Given the description of an element on the screen output the (x, y) to click on. 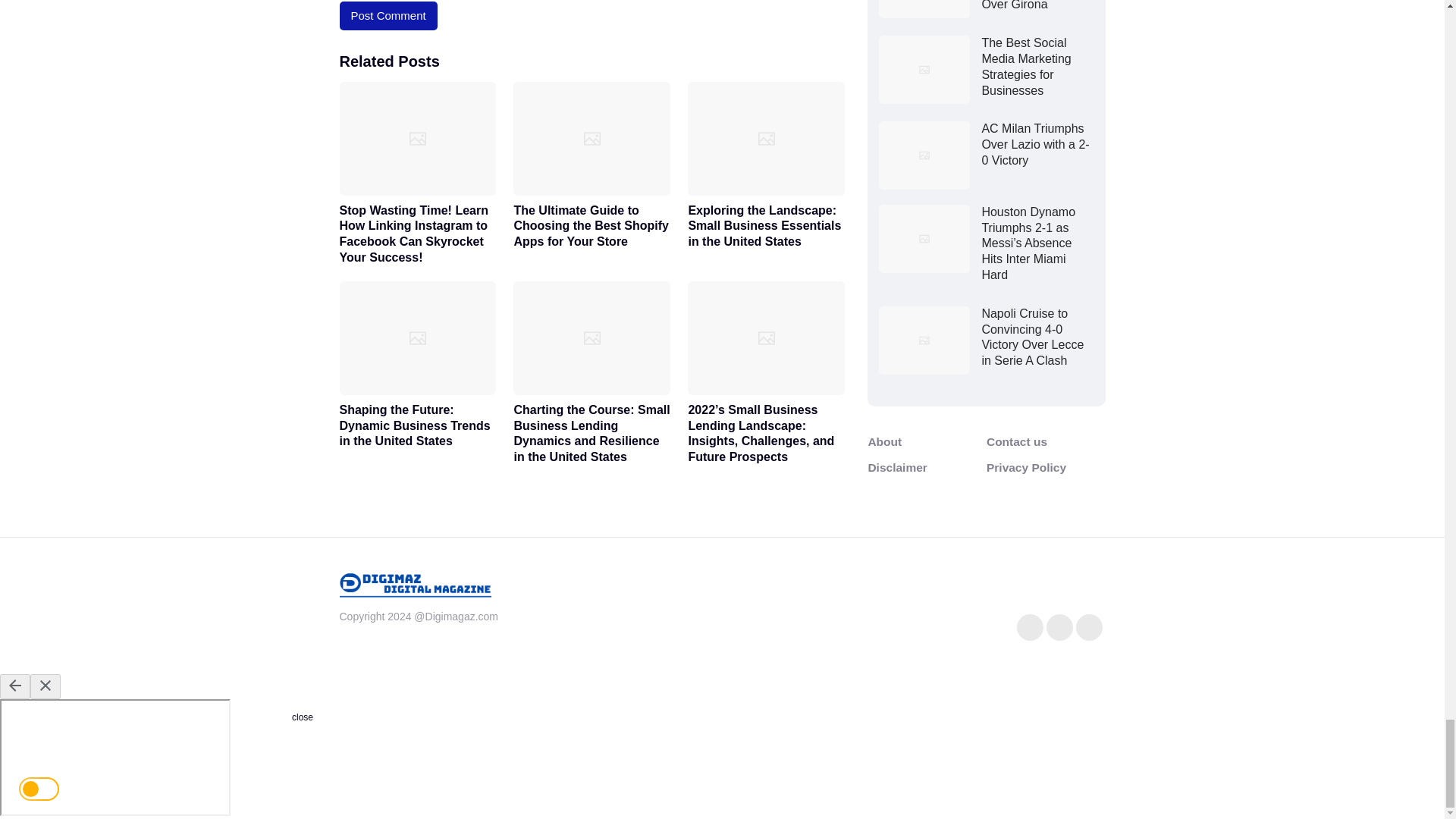
Post Comment (388, 15)
